Given the description of an element on the screen output the (x, y) to click on. 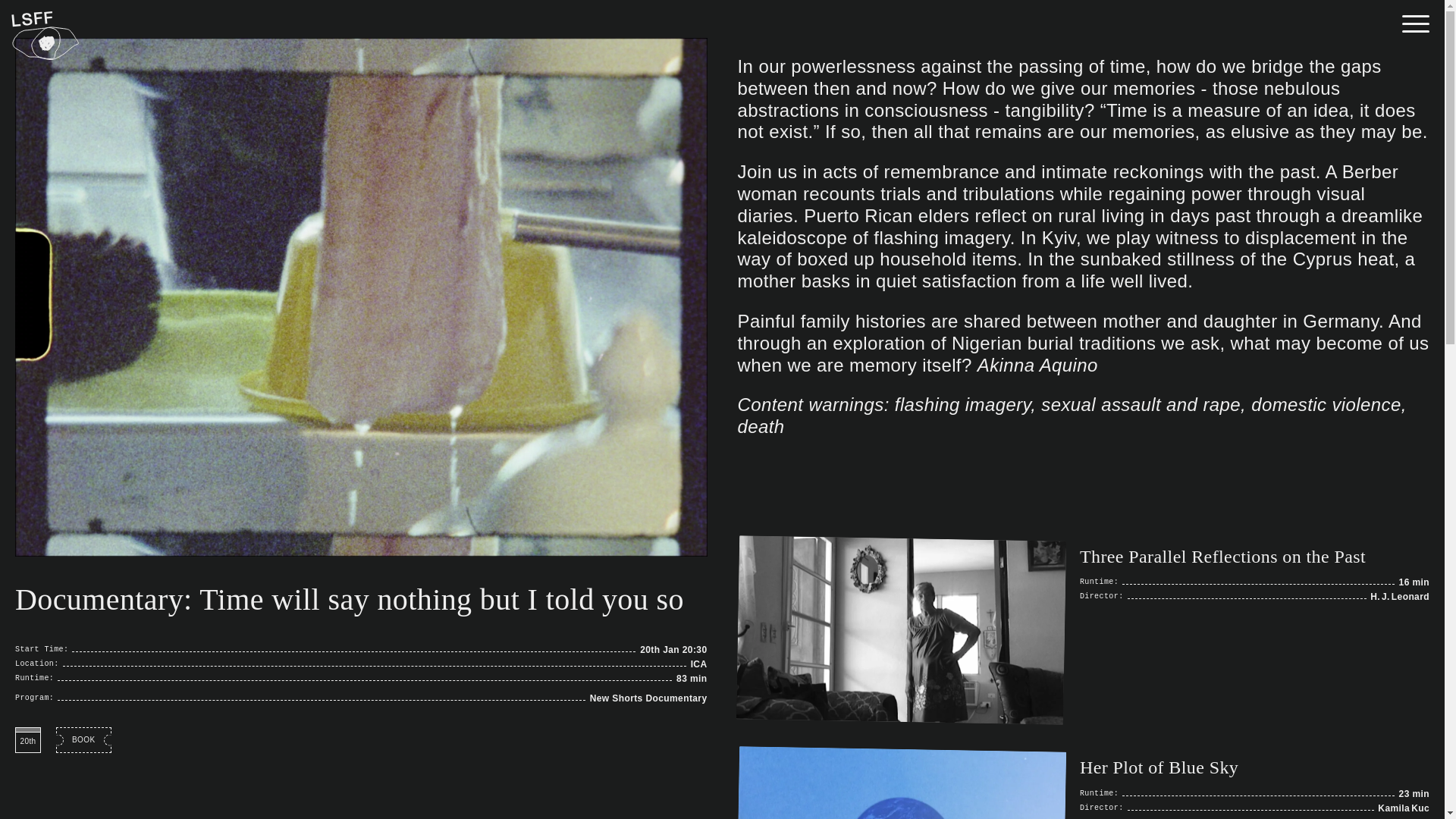
BOOK (84, 739)
home (45, 36)
20th (1254, 787)
